Given the description of an element on the screen output the (x, y) to click on. 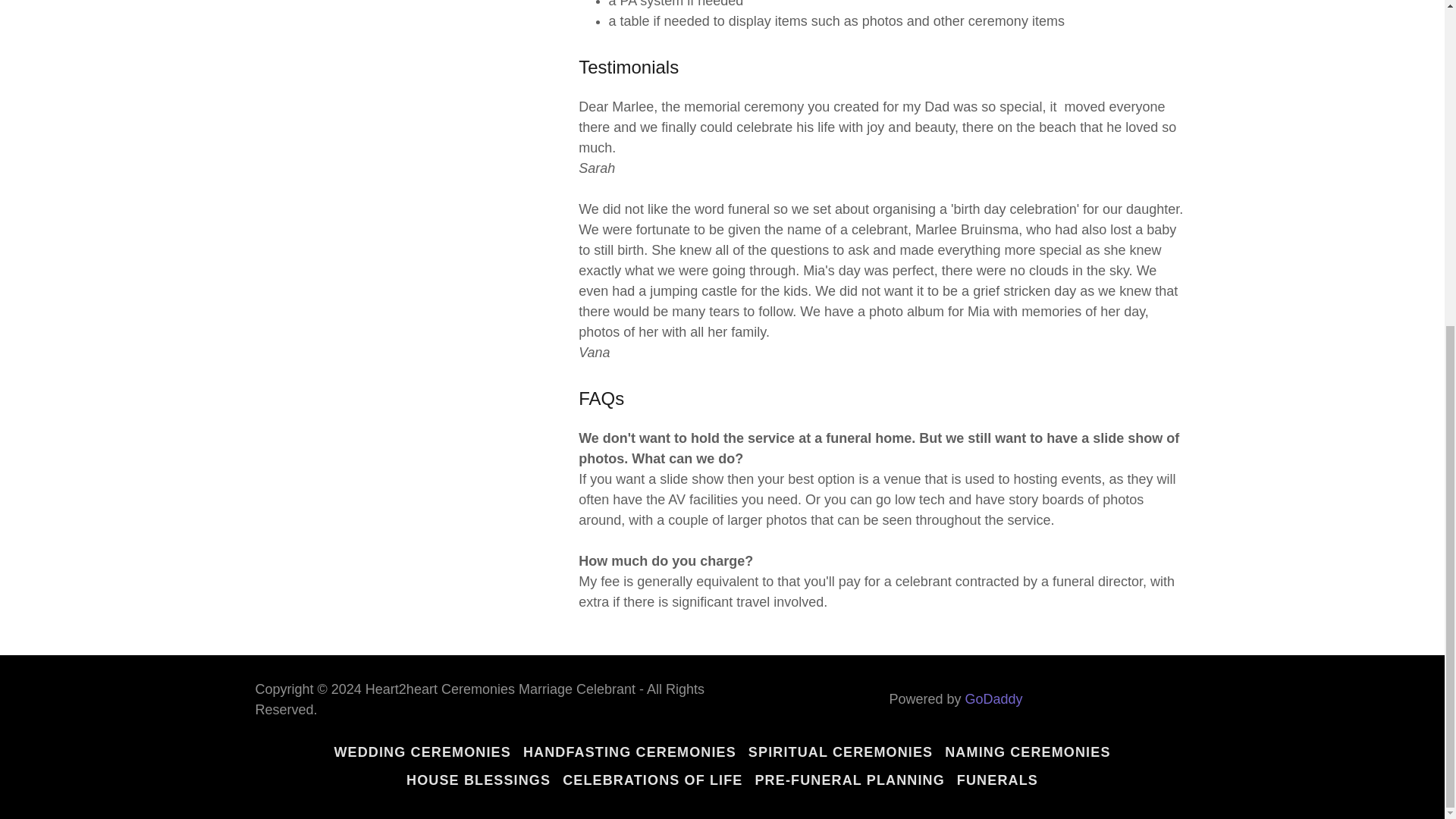
NAMING CEREMONIES (1027, 752)
HANDFASTING CEREMONIES (629, 752)
SPIRITUAL CEREMONIES (840, 752)
PRE-FUNERAL PLANNING (849, 780)
WEDDING CEREMONIES (421, 752)
GoDaddy (992, 698)
HOUSE BLESSINGS (478, 780)
CELEBRATIONS OF LIFE (652, 780)
